Given the description of an element on the screen output the (x, y) to click on. 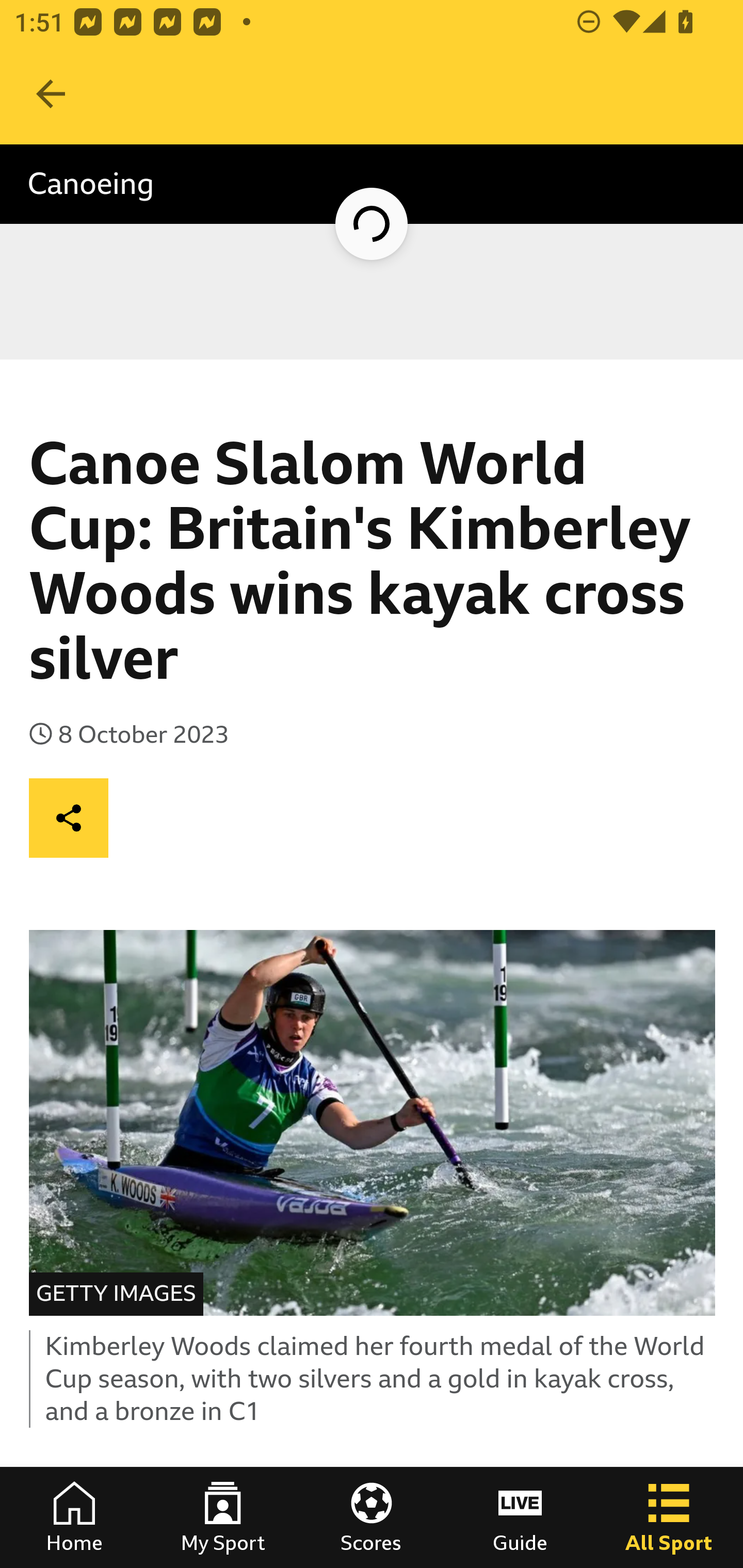
Navigate up (50, 93)
Home (74, 1517)
My Sport (222, 1517)
Scores (371, 1517)
Guide (519, 1517)
